Given the description of an element on the screen output the (x, y) to click on. 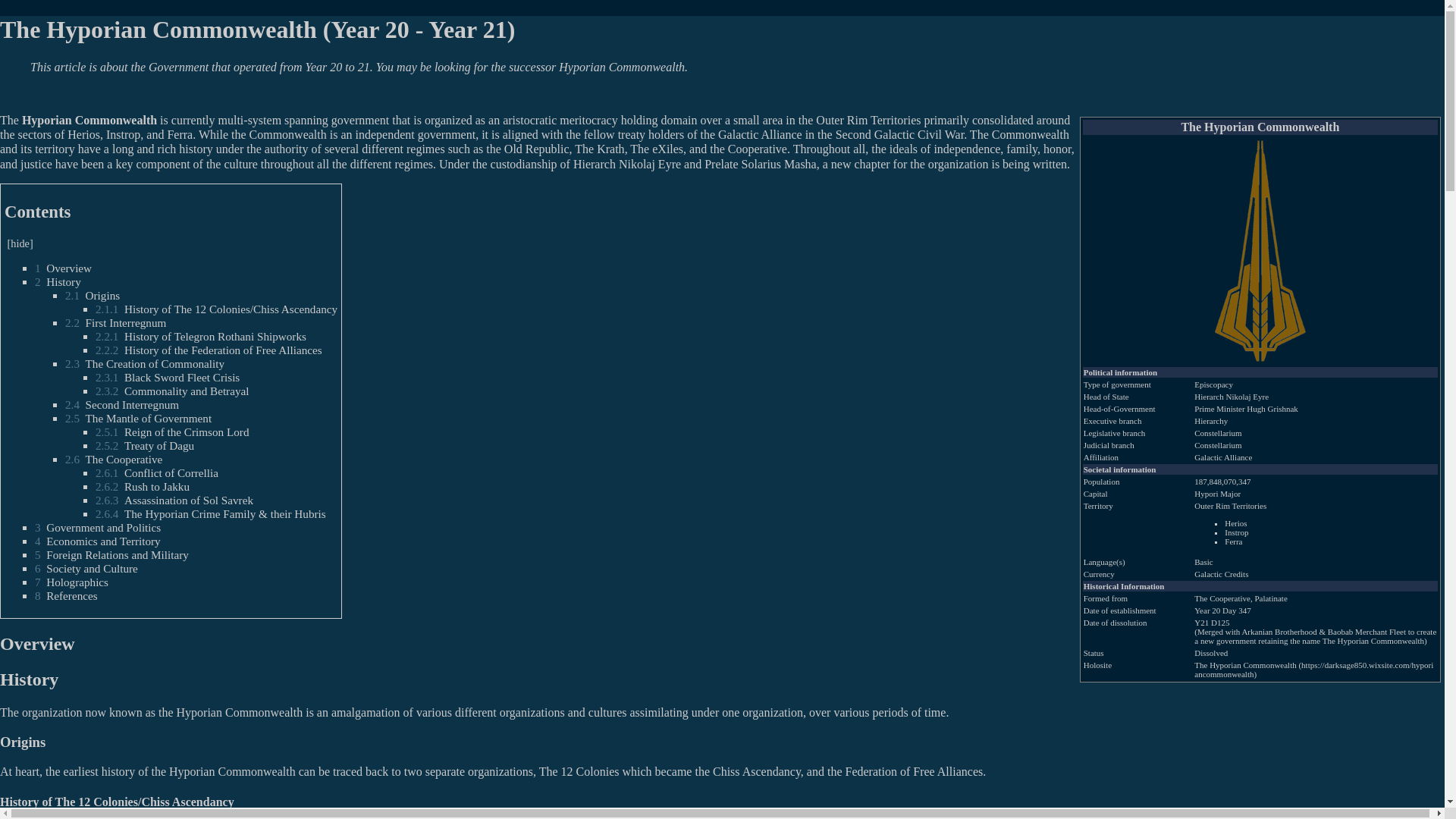
2.1 Origins (92, 295)
Galactic Alliance (759, 133)
Year 20 (1221, 610)
Arkanian Brotherhood (1278, 631)
Galactic Credits (1220, 573)
Ferra (1232, 541)
2.3.1 Black Sword Fleet Crisis (168, 377)
2.2.1 History of Telegron Rothani Shipworks (200, 336)
The Hyporian Commonwealth (1372, 640)
The eXiles (656, 148)
